Given the description of an element on the screen output the (x, y) to click on. 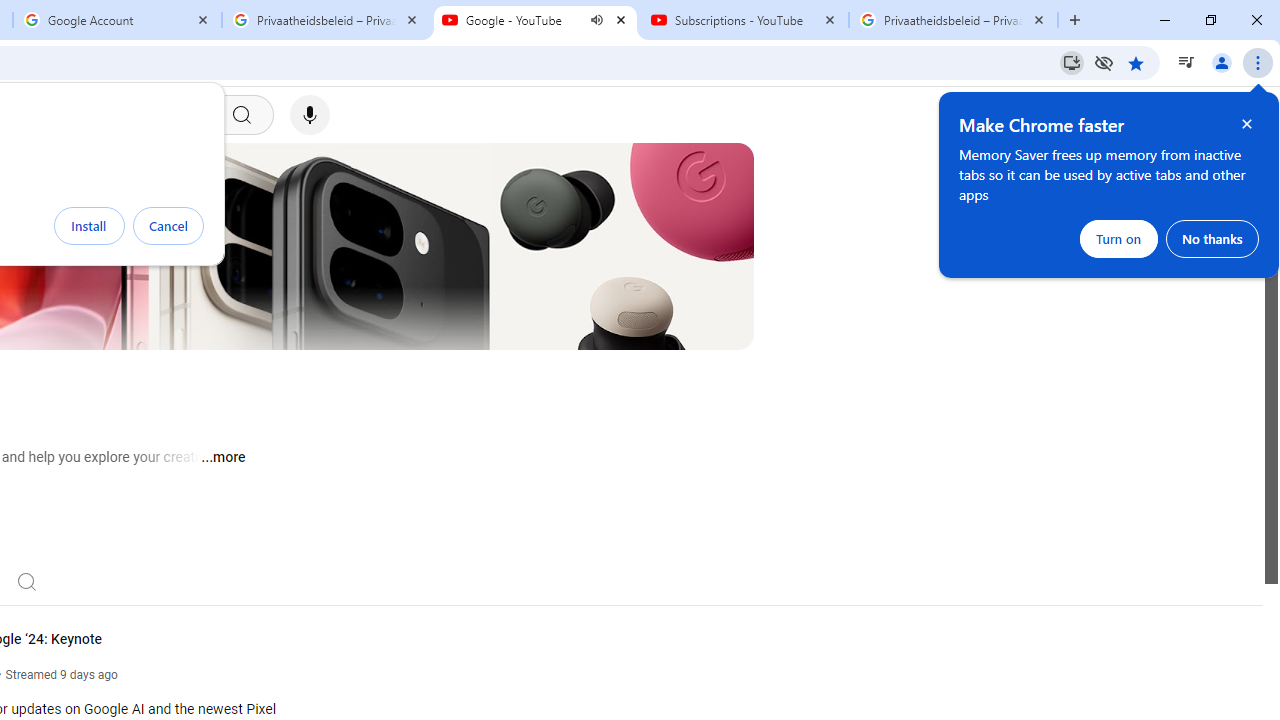
Install YouTube (1071, 62)
Cancel (168, 225)
No thanks (1212, 238)
Turn on (1119, 238)
Search with your voice (309, 115)
